Given the description of an element on the screen output the (x, y) to click on. 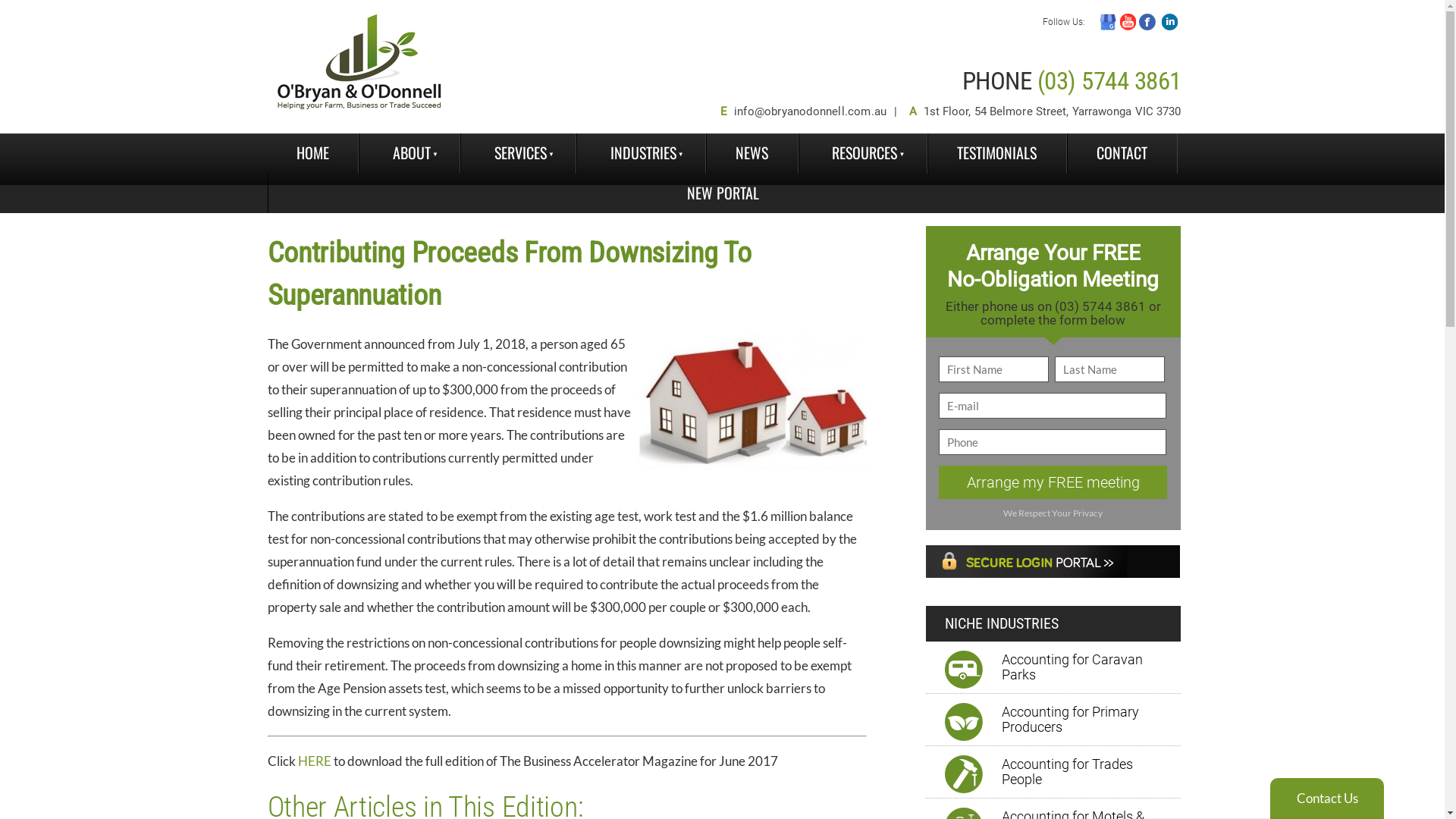
SERVICES Element type: text (518, 153)
Accounting for Caravan Parks Element type: text (1090, 667)
ABOUT Element type: text (409, 153)
TESTIMONIALS Element type: text (997, 153)
Arrange my FREE meeting Element type: text (1052, 481)
INDUSTRIES Element type: text (641, 153)
info@obryanodonnell.com.au Element type: text (810, 111)
RESOURCES Element type: text (862, 153)
NEW PORTAL Element type: text (722, 192)
NEWS Element type: text (751, 153)
HERE Element type: text (313, 760)
Accounting for Trades People Element type: text (1090, 771)
CONTACT Element type: text (1121, 153)
We Respect Your Privacy Element type: text (1052, 513)
HOME Element type: text (311, 153)
Accounting for Primary Producers Element type: text (1090, 719)
